Given the description of an element on the screen output the (x, y) to click on. 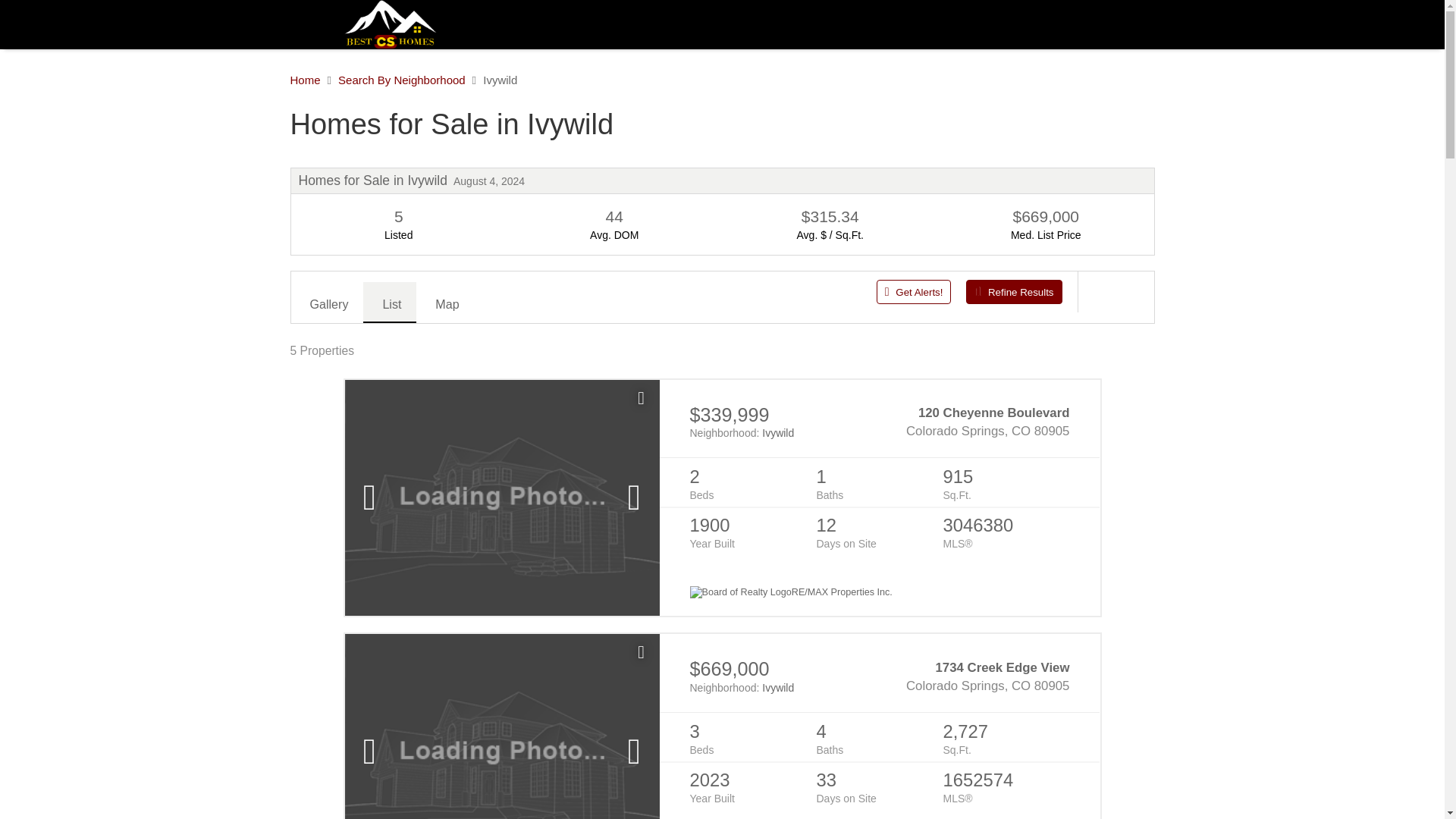
120 Cheyenne Boulevard Colorado Springs,  CO 80905 (973, 422)
1734 Creek Edge View Colorado Springs,  CO 80905 (973, 677)
